Given the description of an element on the screen output the (x, y) to click on. 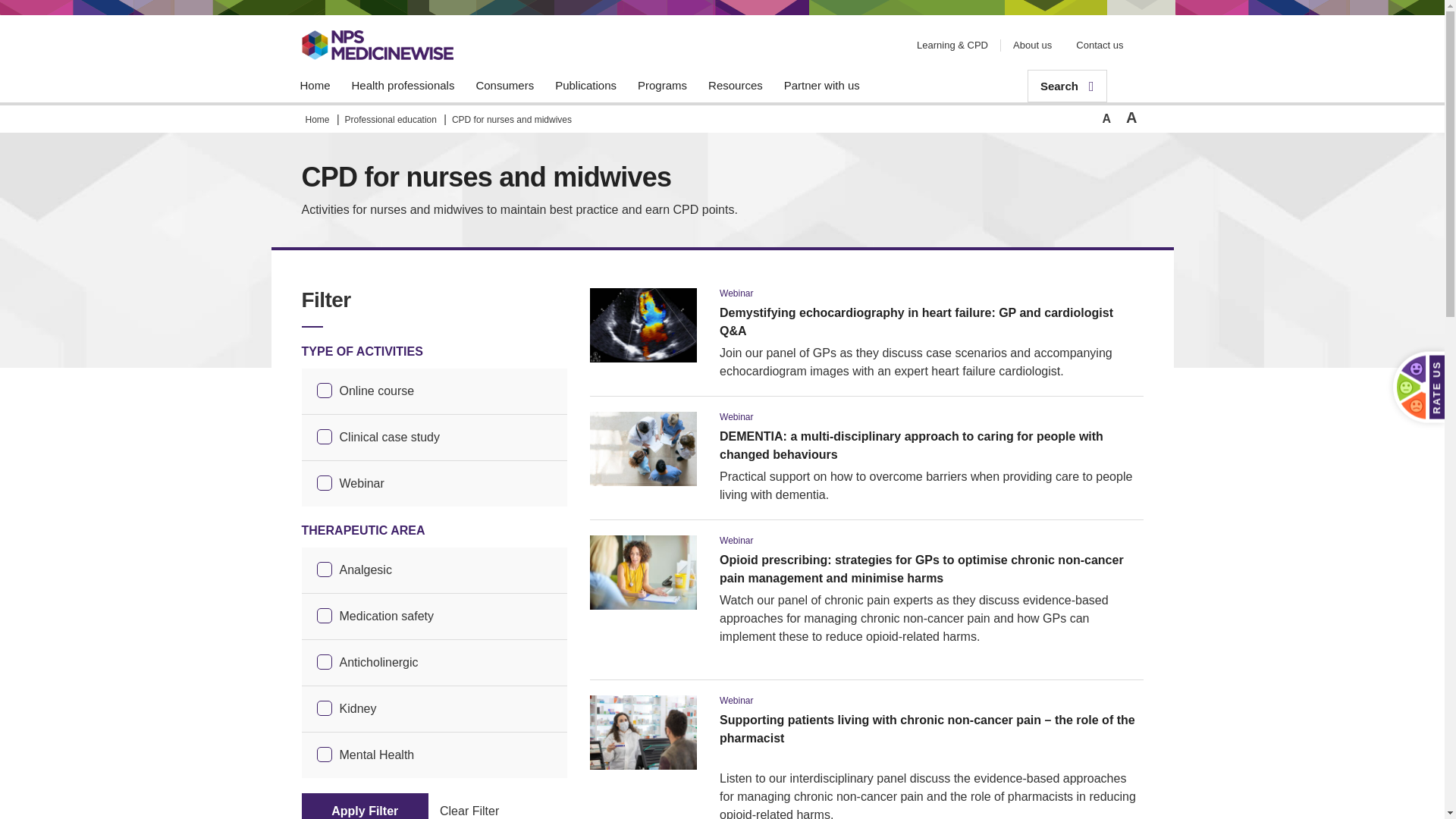
Home (314, 85)
Publications (585, 85)
Consumers (504, 85)
Health professionals (402, 85)
